Given the description of an element on the screen output the (x, y) to click on. 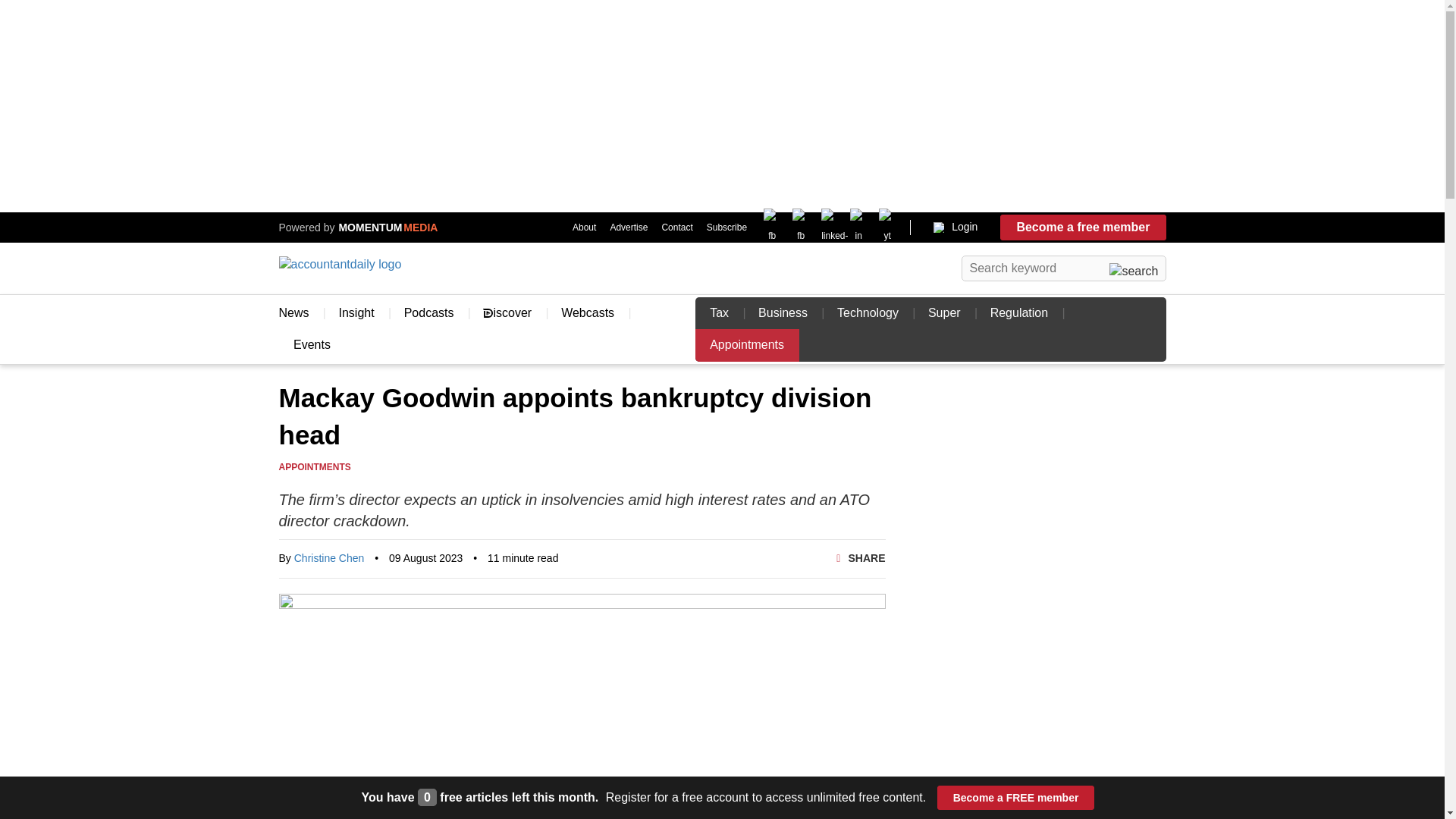
View all articles from Christine Chen (329, 558)
Become a FREE member (1015, 797)
Become a FREE member (1015, 797)
Become a free member (1083, 227)
MOMENTUM MEDIA (386, 227)
